Given the description of an element on the screen output the (x, y) to click on. 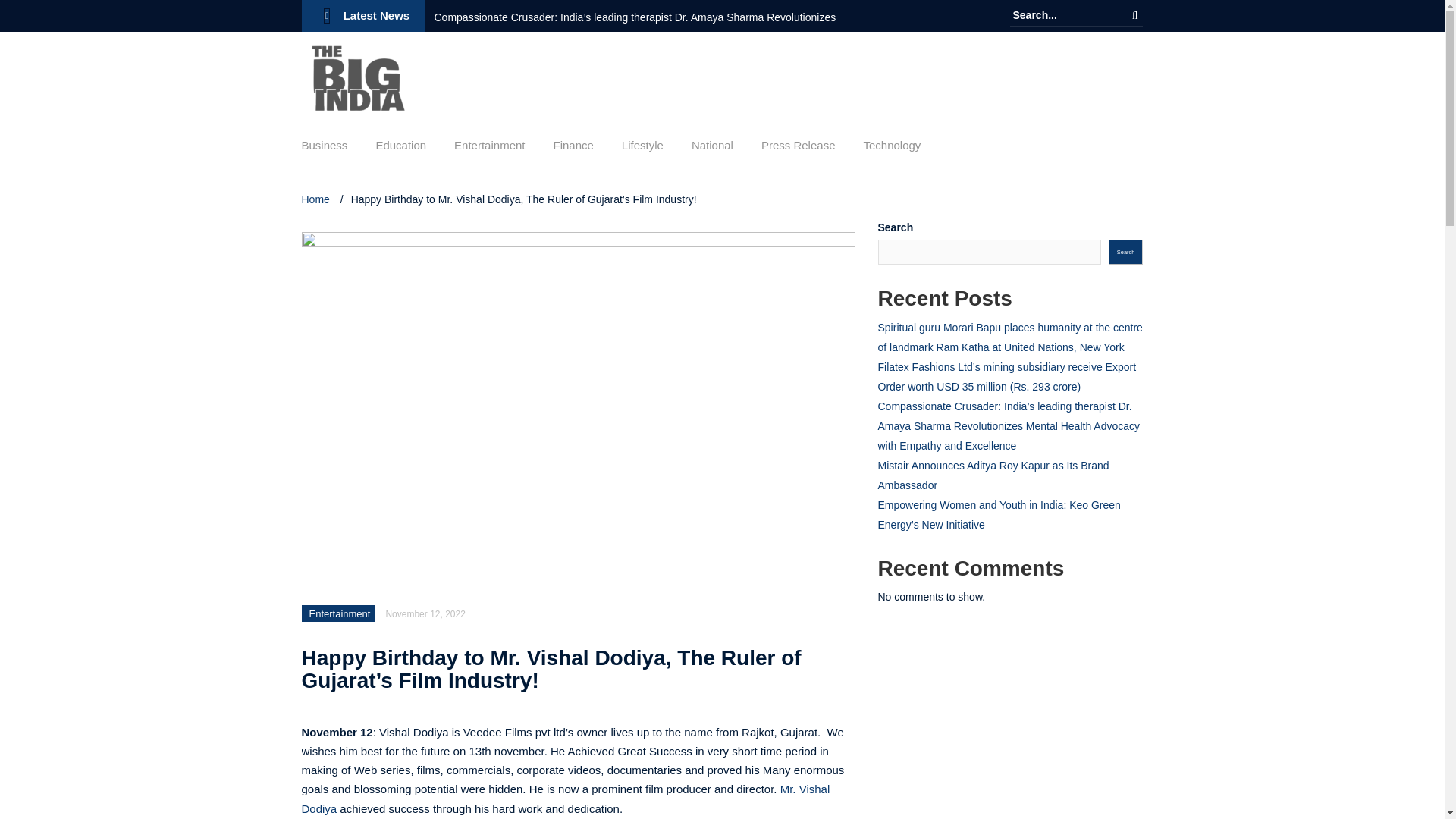
Search   (1134, 14)
Technology (891, 148)
Mr. Vishal Dodiya (565, 798)
Business (324, 148)
Lifestyle (642, 148)
Education (400, 148)
Home (317, 199)
Entertainment (489, 148)
Entertainment (339, 613)
Finance (572, 148)
Press Release (798, 148)
National (712, 148)
